Given the description of an element on the screen output the (x, y) to click on. 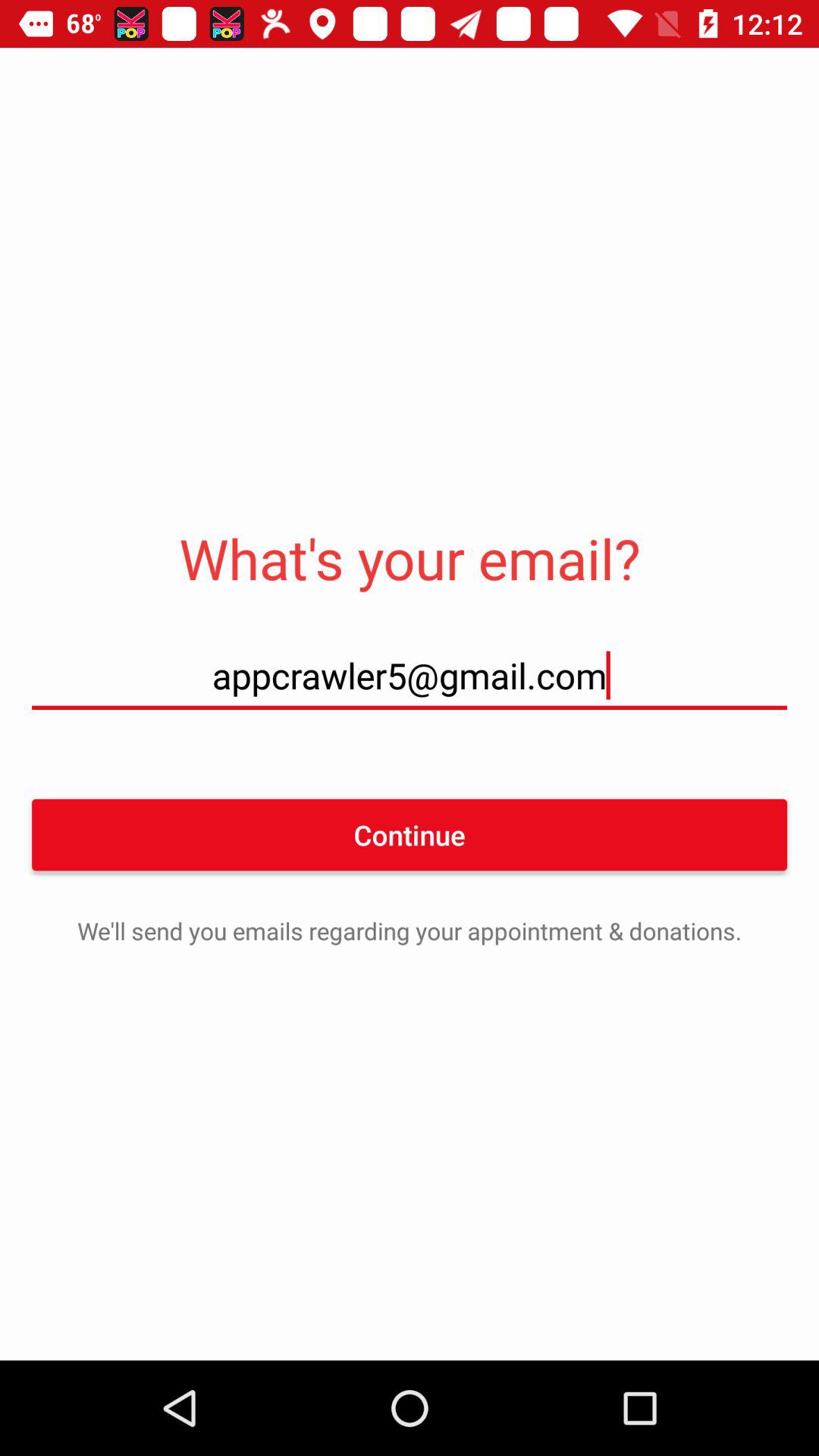
choose appcrawler5@gmail.com (409, 675)
